Given the description of an element on the screen output the (x, y) to click on. 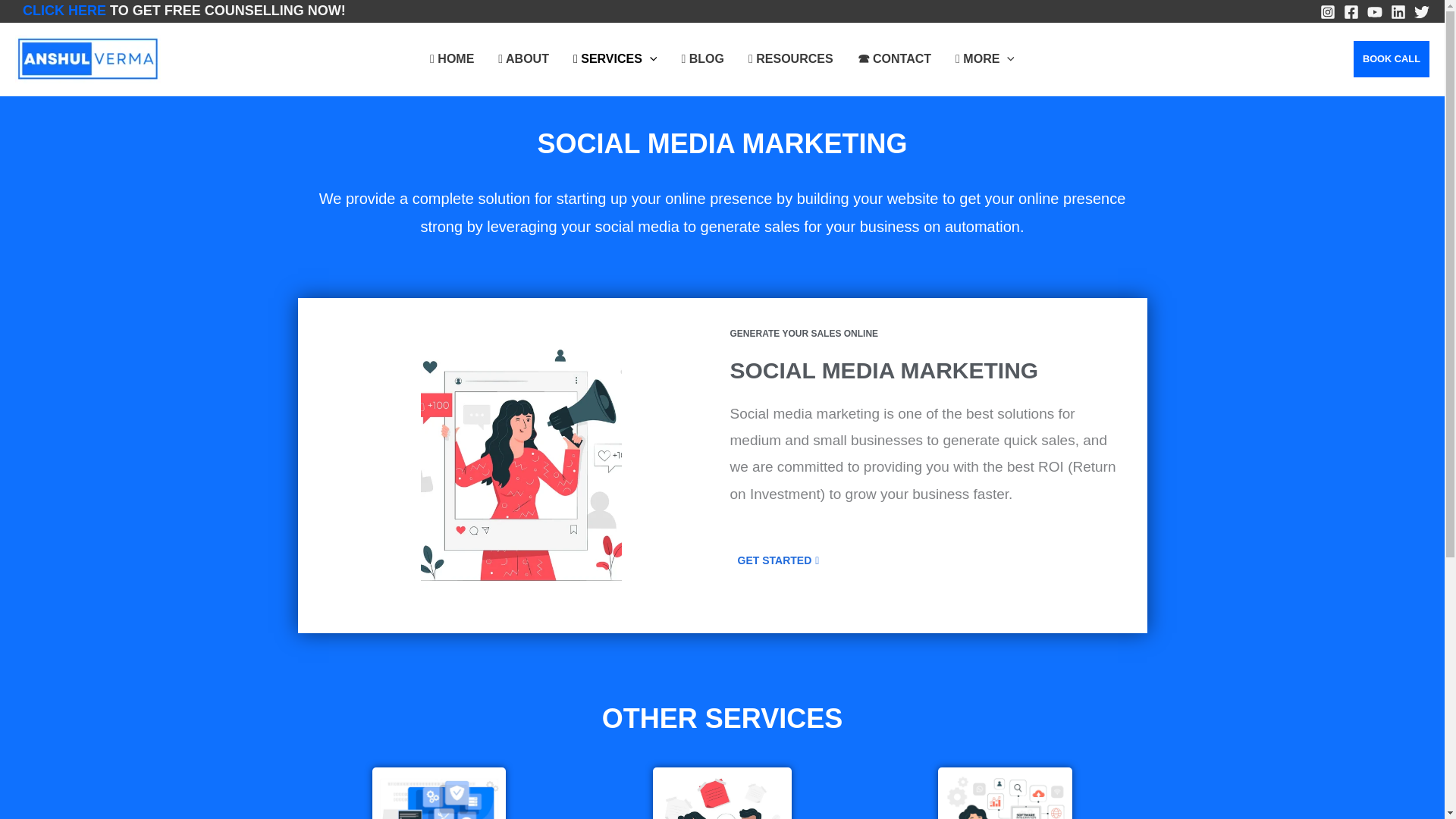
CLICK HERE (66, 10)
BOOK CALL (1391, 58)
